Given the description of an element on the screen output the (x, y) to click on. 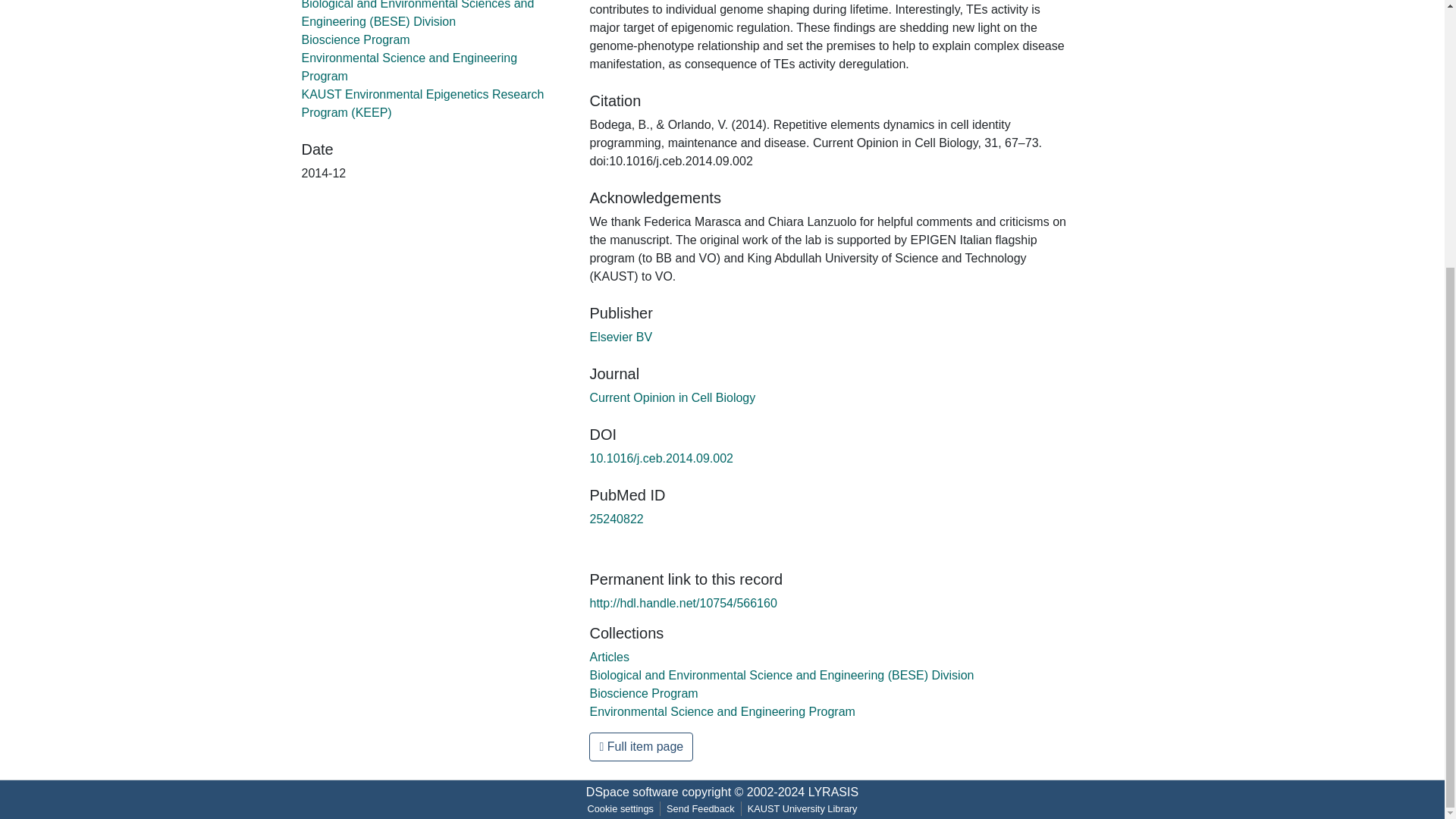
Environmental Science and Engineering Program (409, 66)
Current Opinion in Cell Biology (672, 397)
LYRASIS (833, 791)
Cookie settings (619, 808)
KAUST University Library (802, 808)
Elsevier BV (620, 336)
Bioscience Program (355, 39)
Environmental Science and Engineering Program (721, 711)
Articles (608, 656)
Bioscience Program (643, 693)
Full item page (641, 746)
25240822 (616, 518)
DSpace software (632, 791)
Send Feedback (701, 808)
